Given the description of an element on the screen output the (x, y) to click on. 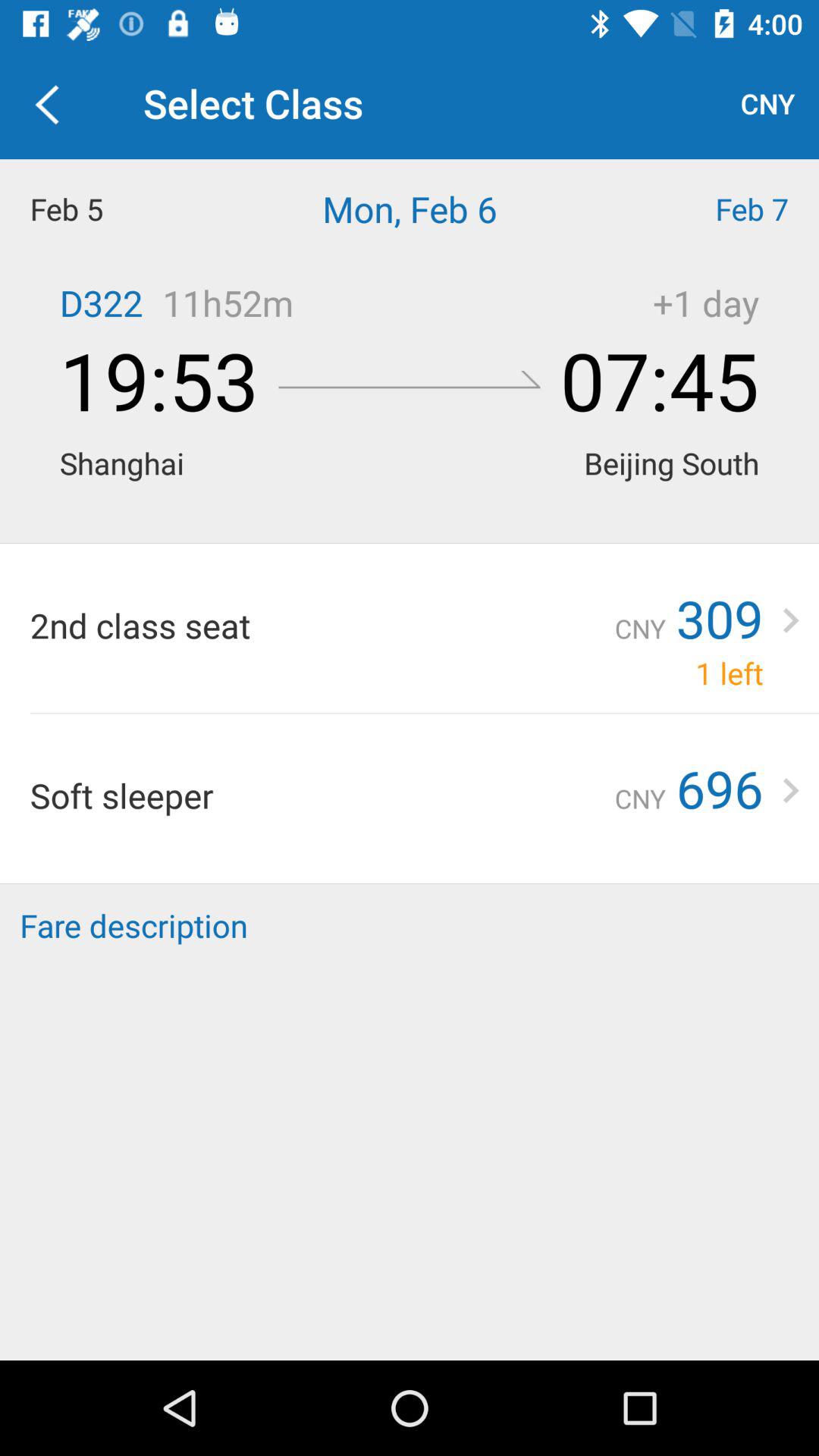
turn off the item next to the feb 7 item (409, 208)
